Given the description of an element on the screen output the (x, y) to click on. 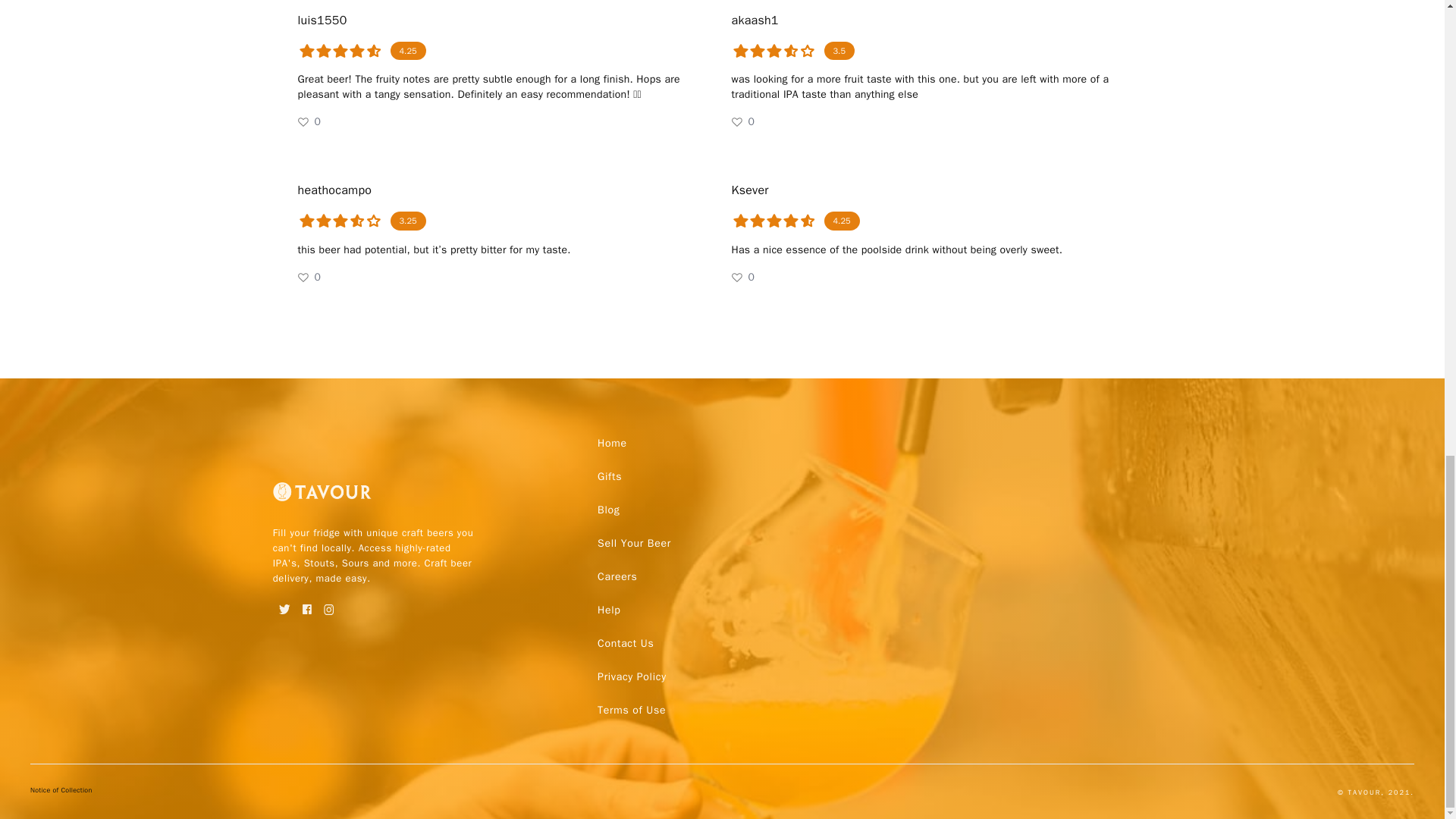
Careers (617, 576)
Careers (617, 576)
Home (612, 443)
Twitter (285, 604)
Notice of Collection (61, 792)
Gifts (609, 476)
FAQ (625, 643)
Help (608, 610)
Contact Us (625, 643)
gifts (609, 476)
